Given the description of an element on the screen output the (x, y) to click on. 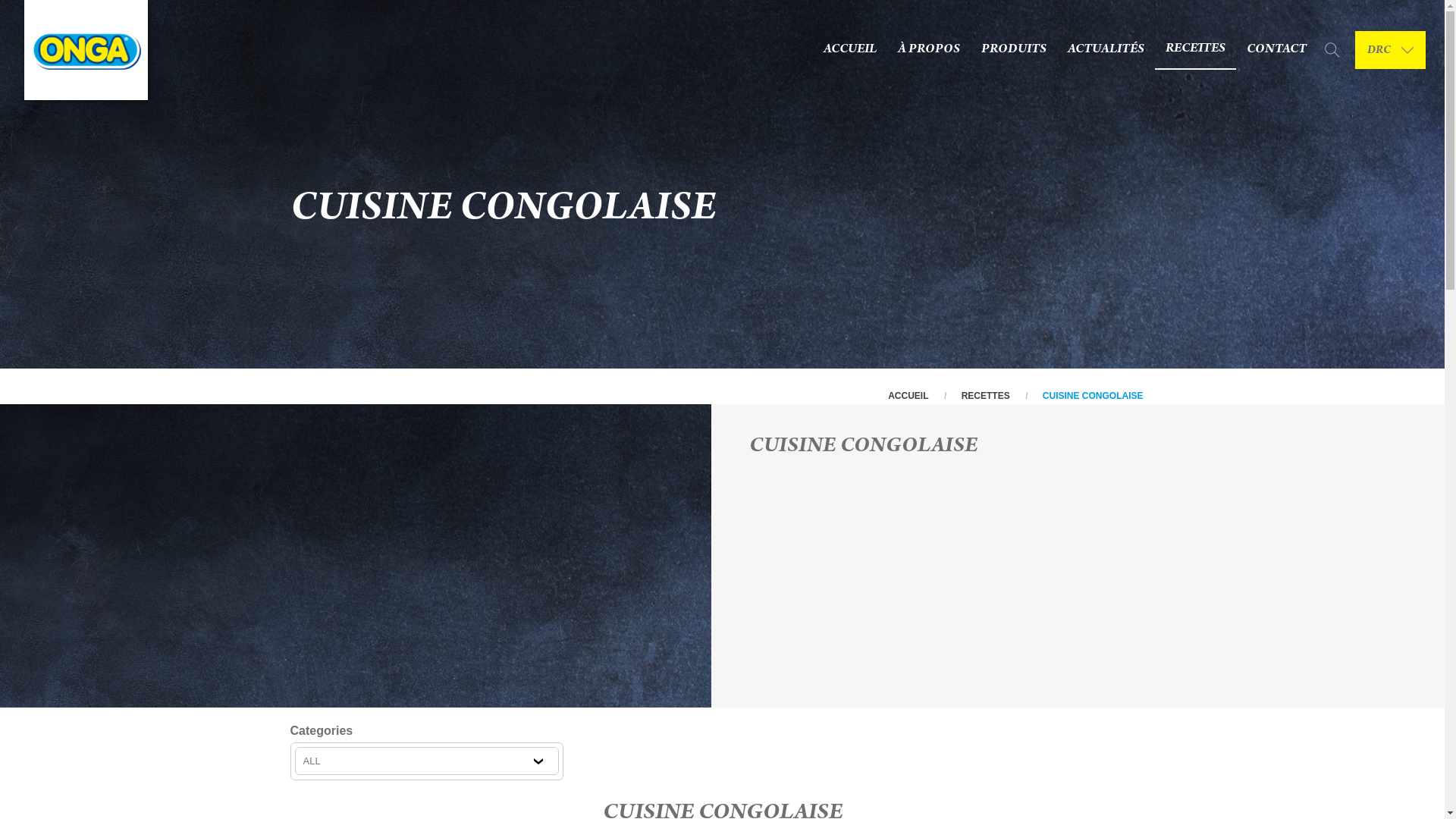
ACCUEIL Element type: text (849, 50)
CUISINE CONGOLAISE Element type: text (1092, 395)
RECETTES Element type: text (985, 395)
ACCUEIL Element type: text (908, 395)
PRODUITS Element type: text (1013, 50)
CONTACT Element type: text (1276, 50)
RECETTES Element type: text (1195, 49)
